Given the description of an element on the screen output the (x, y) to click on. 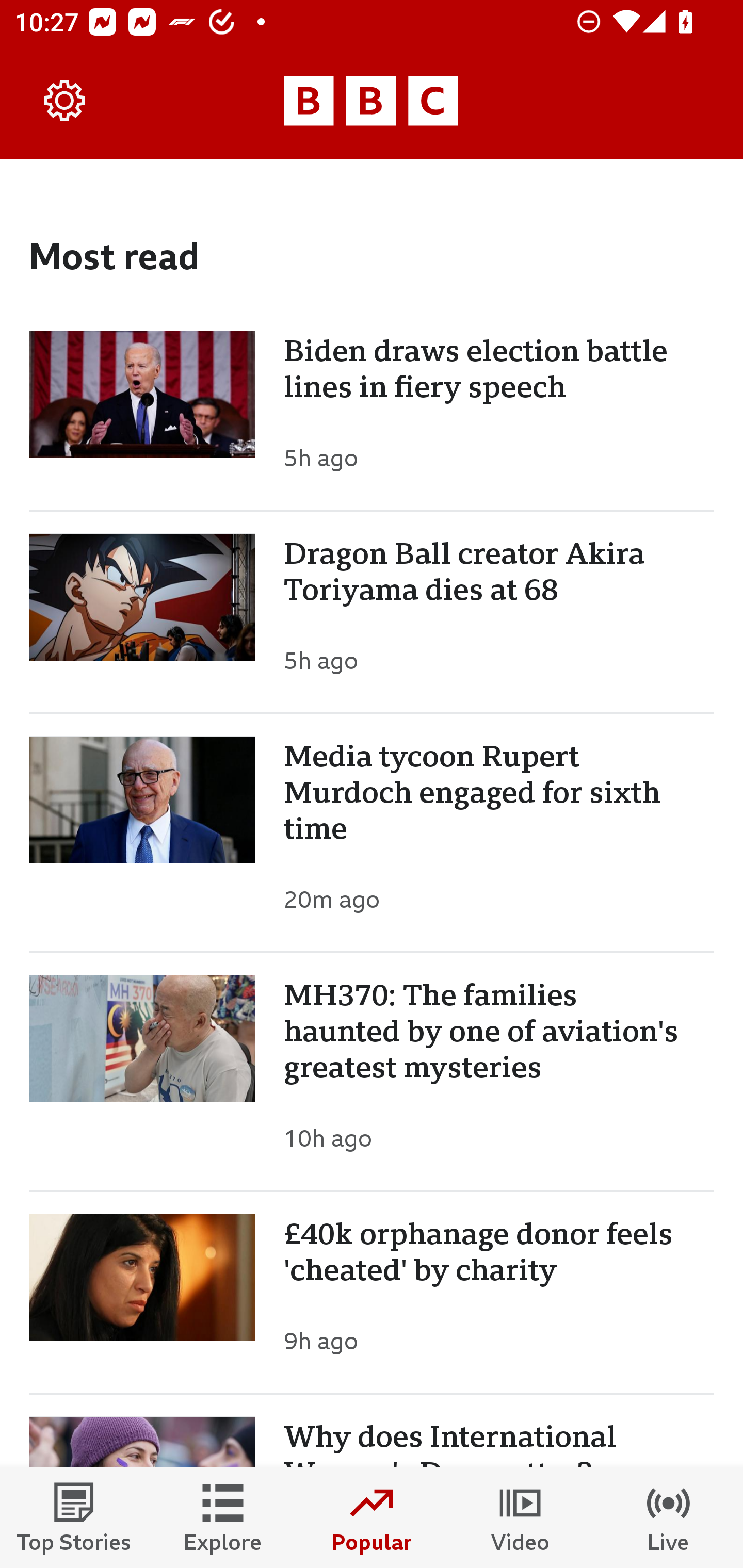
Settings (64, 100)
Top Stories (74, 1517)
Explore (222, 1517)
Video (519, 1517)
Live (668, 1517)
